Given the description of an element on the screen output the (x, y) to click on. 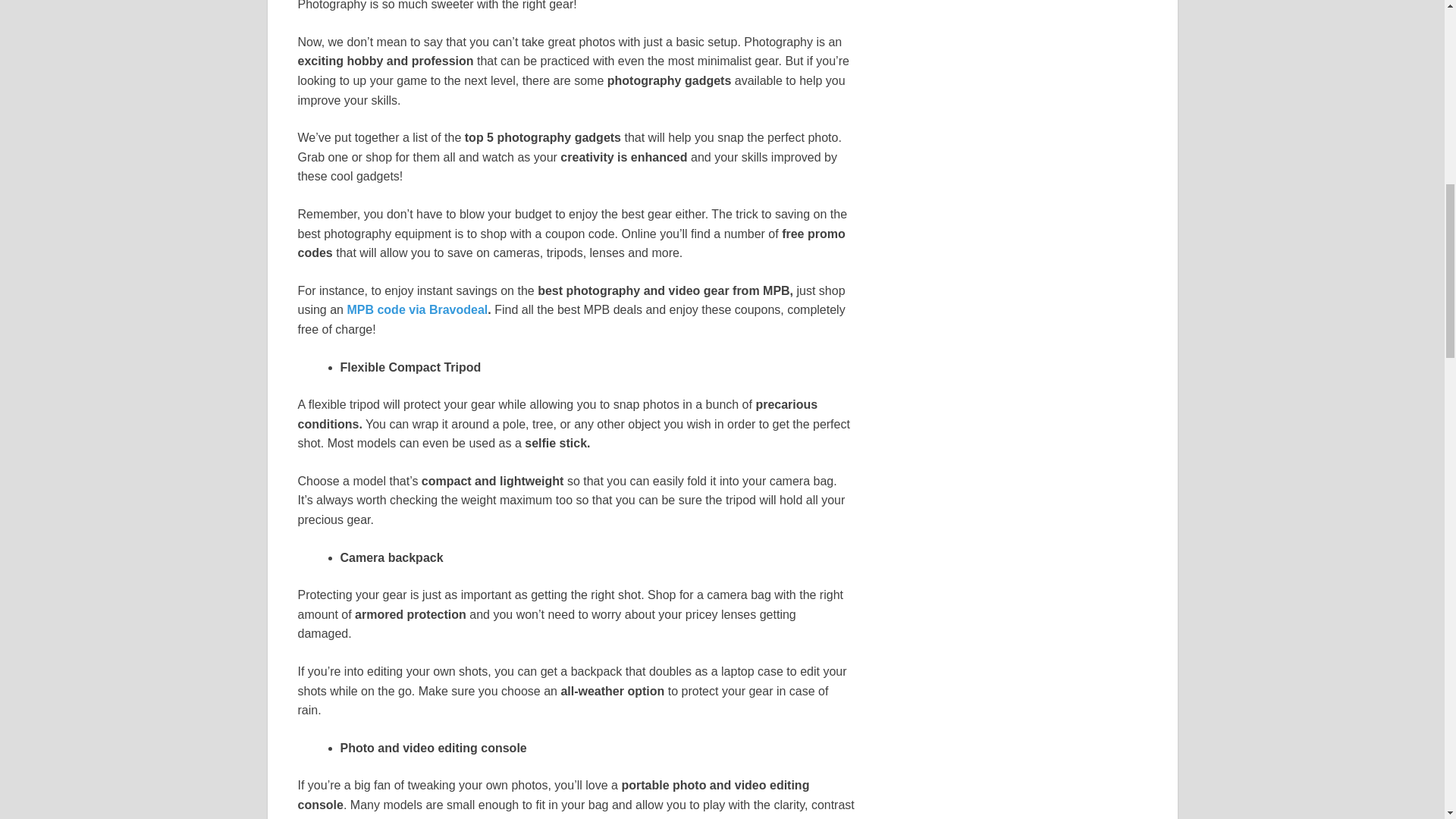
MPB code via Bravodeal (416, 309)
